Given the description of an element on the screen output the (x, y) to click on. 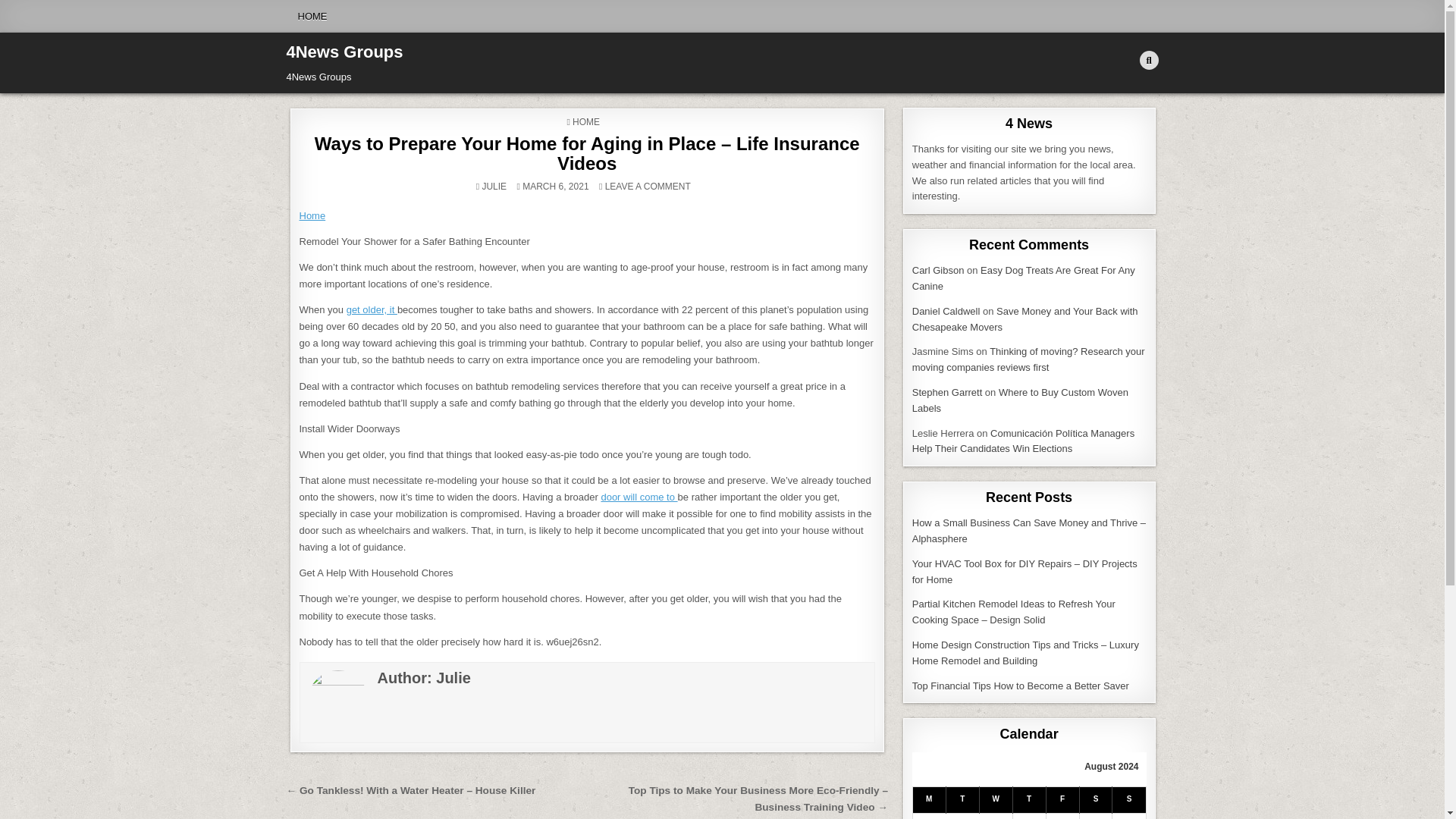
Saturday (1095, 799)
get older, it (371, 309)
Daniel Caldwell (945, 310)
JULIE (493, 185)
Save Money and Your Back with Chesapeake Movers (1025, 318)
Friday (1061, 799)
Sunday (1128, 799)
HOME (312, 16)
HOME (585, 122)
Where to Buy Custom Woven Labels (1020, 400)
